Given the description of an element on the screen output the (x, y) to click on. 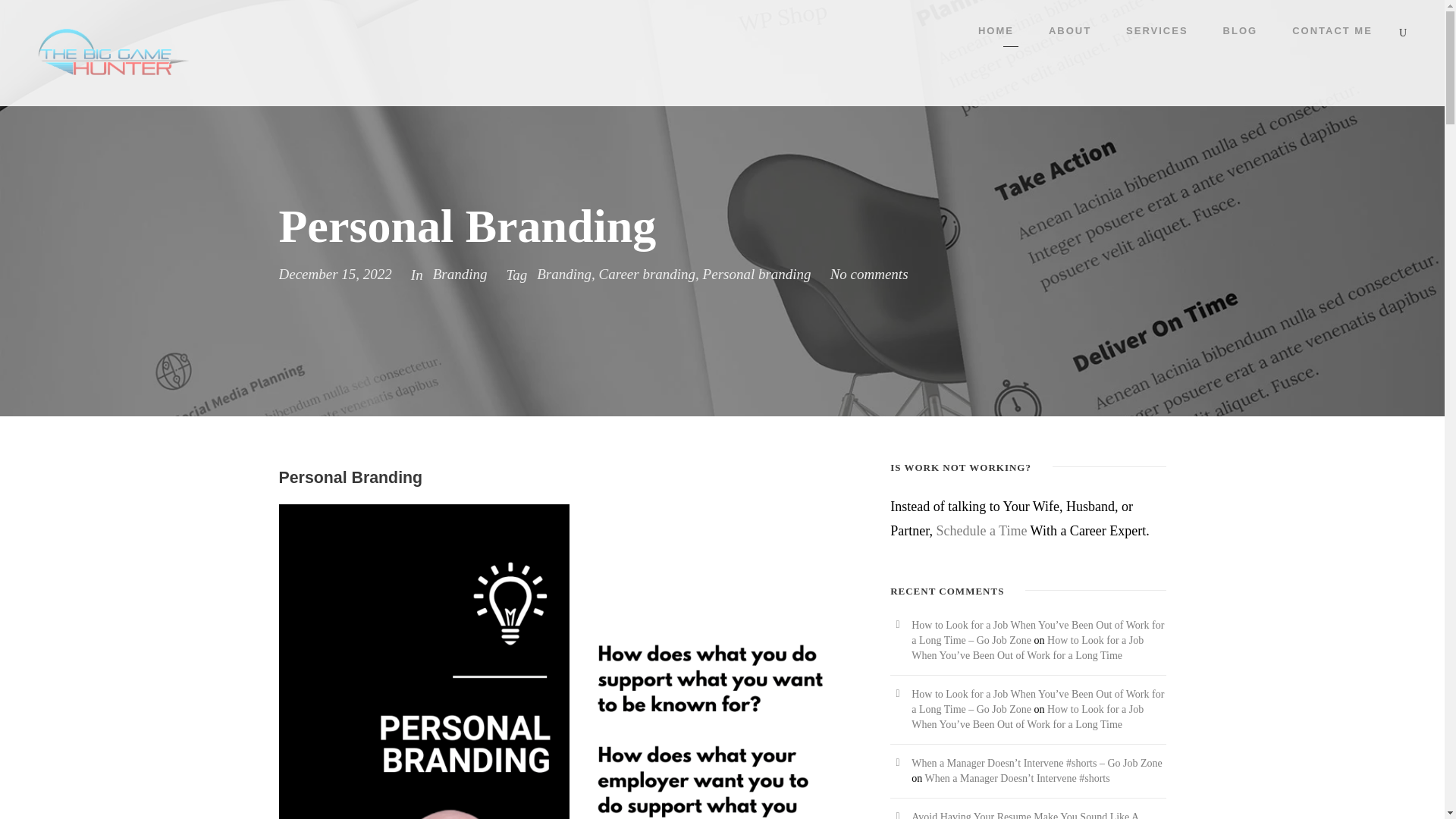
Branding (459, 273)
Personal branding (756, 273)
logo (113, 52)
Career branding (646, 273)
ABOUT (1069, 33)
CONTACT ME (1332, 33)
Branding (564, 273)
BLOG (1240, 33)
SERVICES (1156, 33)
December 15, 2022 (335, 273)
HOME (995, 33)
No comments (868, 273)
